Given the description of an element on the screen output the (x, y) to click on. 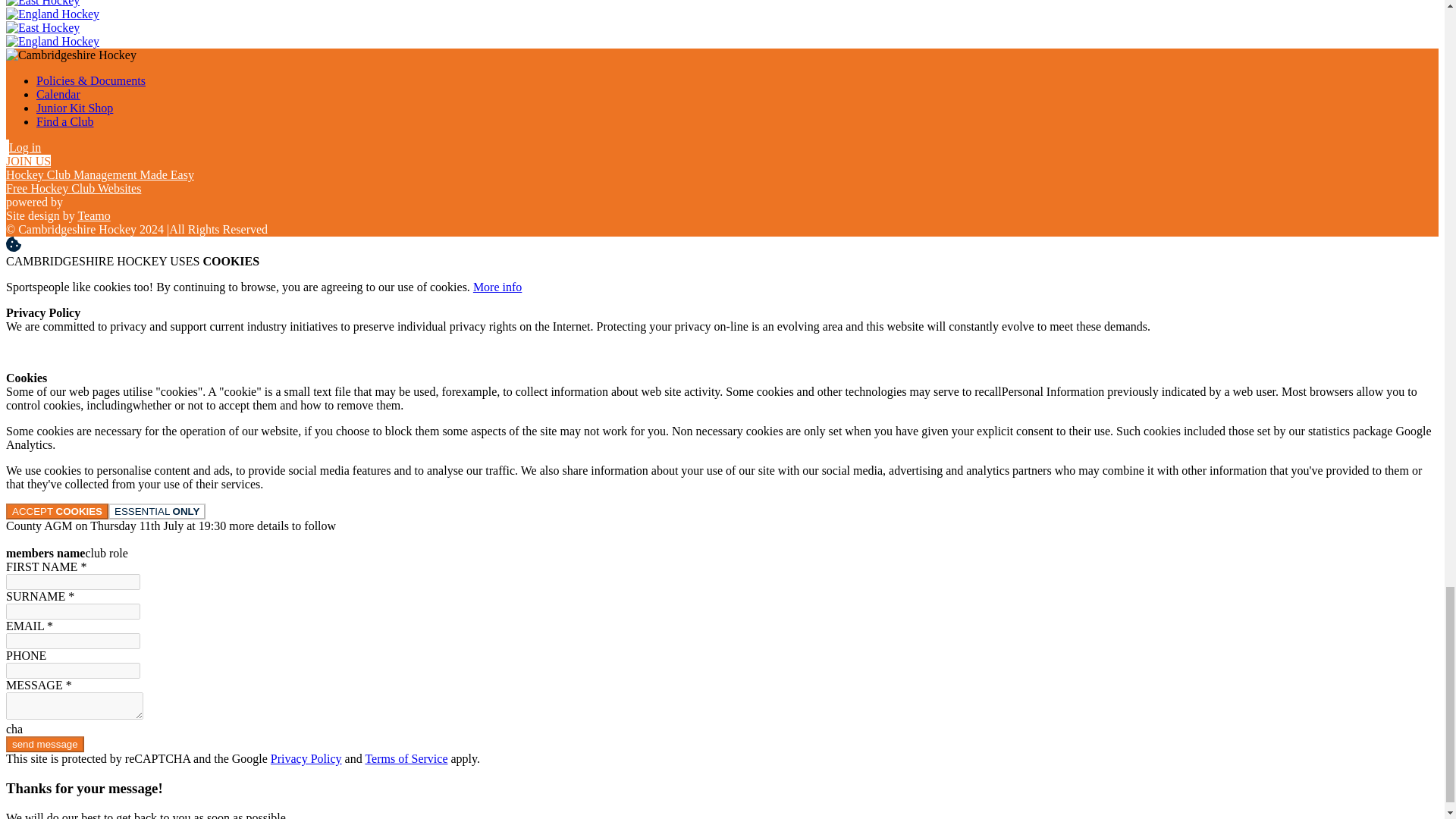
Hockey Club Management (99, 174)
England Hockey (52, 13)
Free Hockey Club Websites (73, 187)
East Hockey (42, 3)
East Hockey (42, 27)
England Hockey (52, 41)
